Given the description of an element on the screen output the (x, y) to click on. 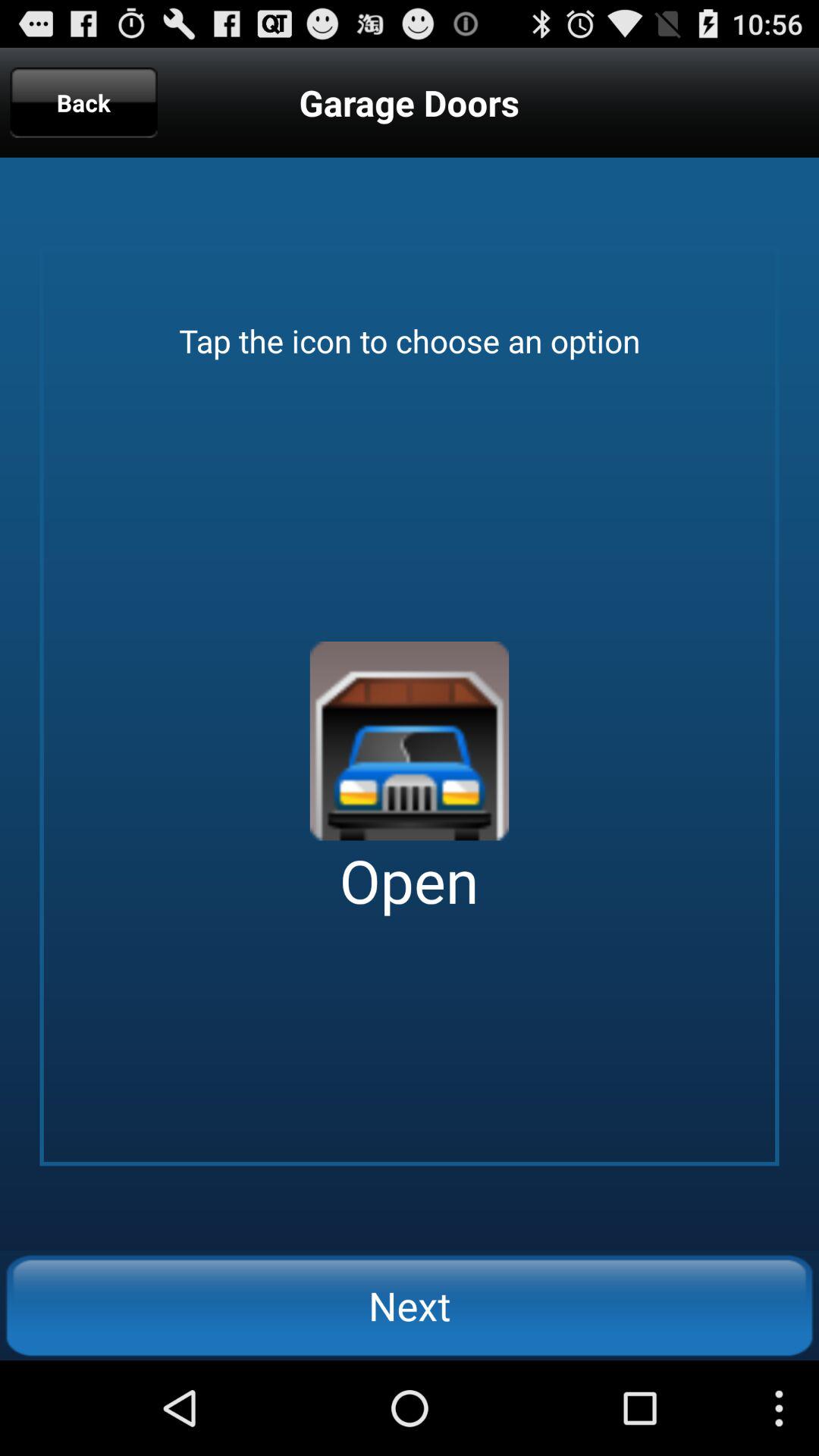
turn on app to the left of the garage doors icon (83, 102)
